Given the description of an element on the screen output the (x, y) to click on. 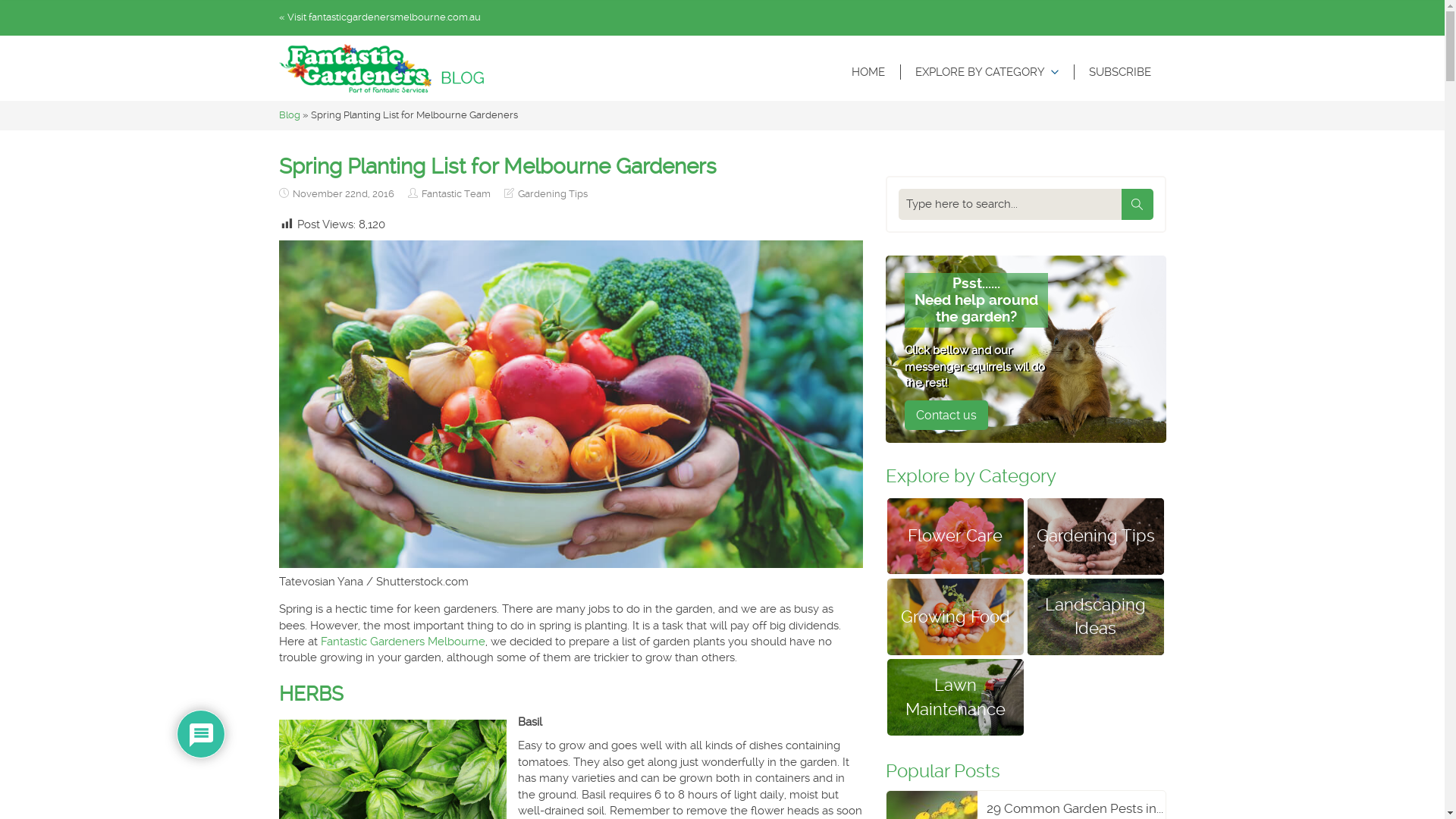
Gardening Tips Element type: text (551, 193)
Gardening Tips Element type: text (1095, 536)
Search Element type: text (1136, 203)
Contact us Element type: text (945, 414)
Blog Element type: text (289, 114)
Fantastic Gardeners Melbourne Element type: text (402, 641)
HOME Element type: text (867, 71)
Growing Food Element type: text (954, 616)
Lawn Maintenance Element type: text (954, 696)
EXPLORE BY CATEGORY Element type: text (986, 71)
Landscaping Ideas Element type: text (1095, 616)
SUBSCRIBE Element type: text (1119, 71)
29 Common Garden Pests in... Element type: text (1024, 808)
Flower Care Element type: text (954, 536)
Fantastic Gardeners Melbourne Blog Element type: hover (381, 68)
